Given the description of an element on the screen output the (x, y) to click on. 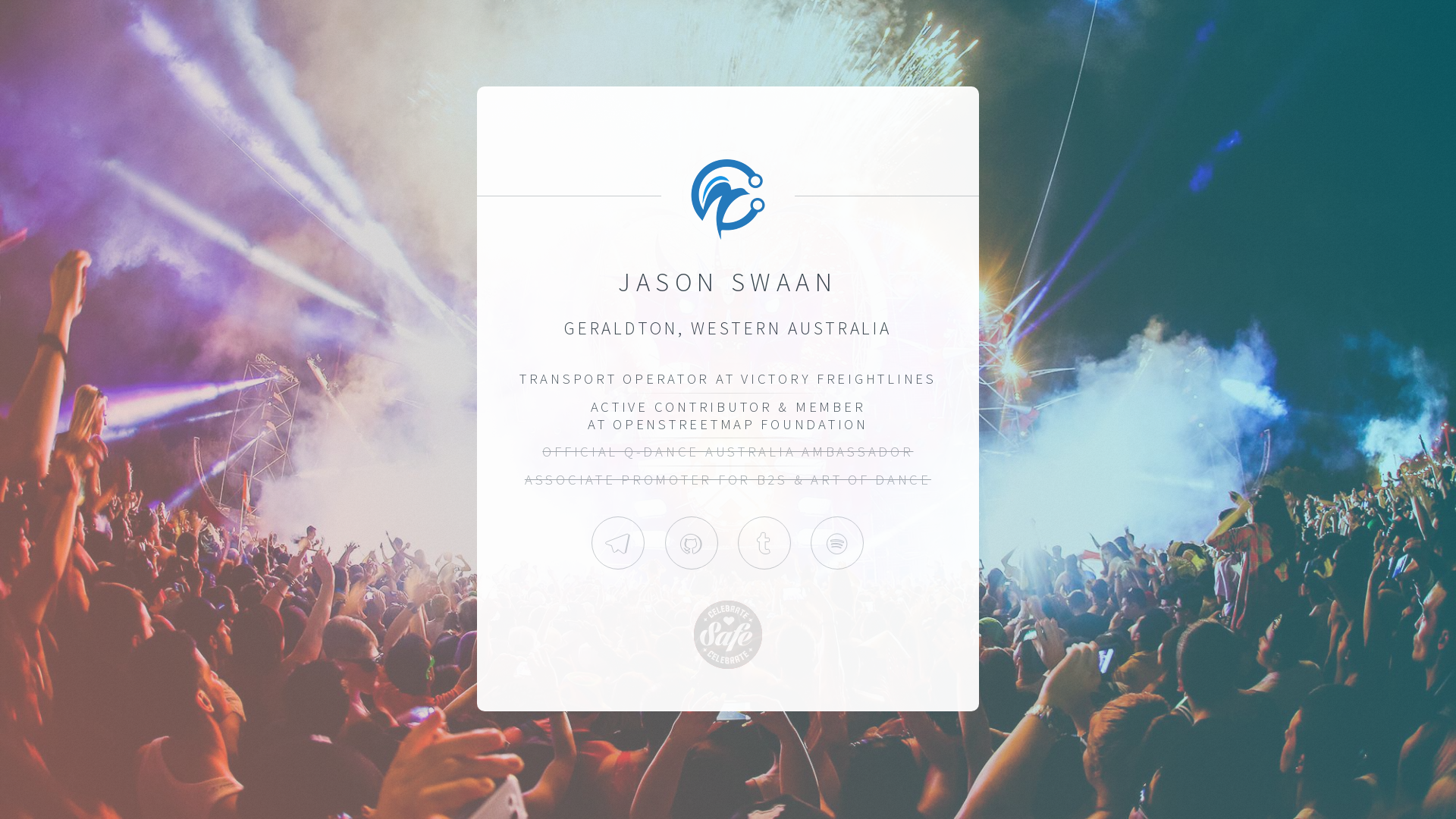
GERALDTON, WESTERN AUSTRALIA Element type: text (727, 327)
ASSOCIATE PROMOTER FOR B2S & ART OF DANCE Element type: text (727, 479)
TUMBLR Element type: text (763, 542)
SPOTIFY Element type: text (837, 542)
TELEGRAM Element type: text (617, 542)
TRANSPORT OPERATOR AT VICTORY FREIGHTLINES Element type: text (727, 378)
OFFICIAL Q-DANCE AUSTRALIA AMBASSADOR Element type: text (727, 451)
ACTIVE CONTRIBUTOR & MEMBER
AT OPENSTREETMAP FOUNDATION Element type: text (727, 415)
GITHUB Element type: text (691, 542)
